Given the description of an element on the screen output the (x, y) to click on. 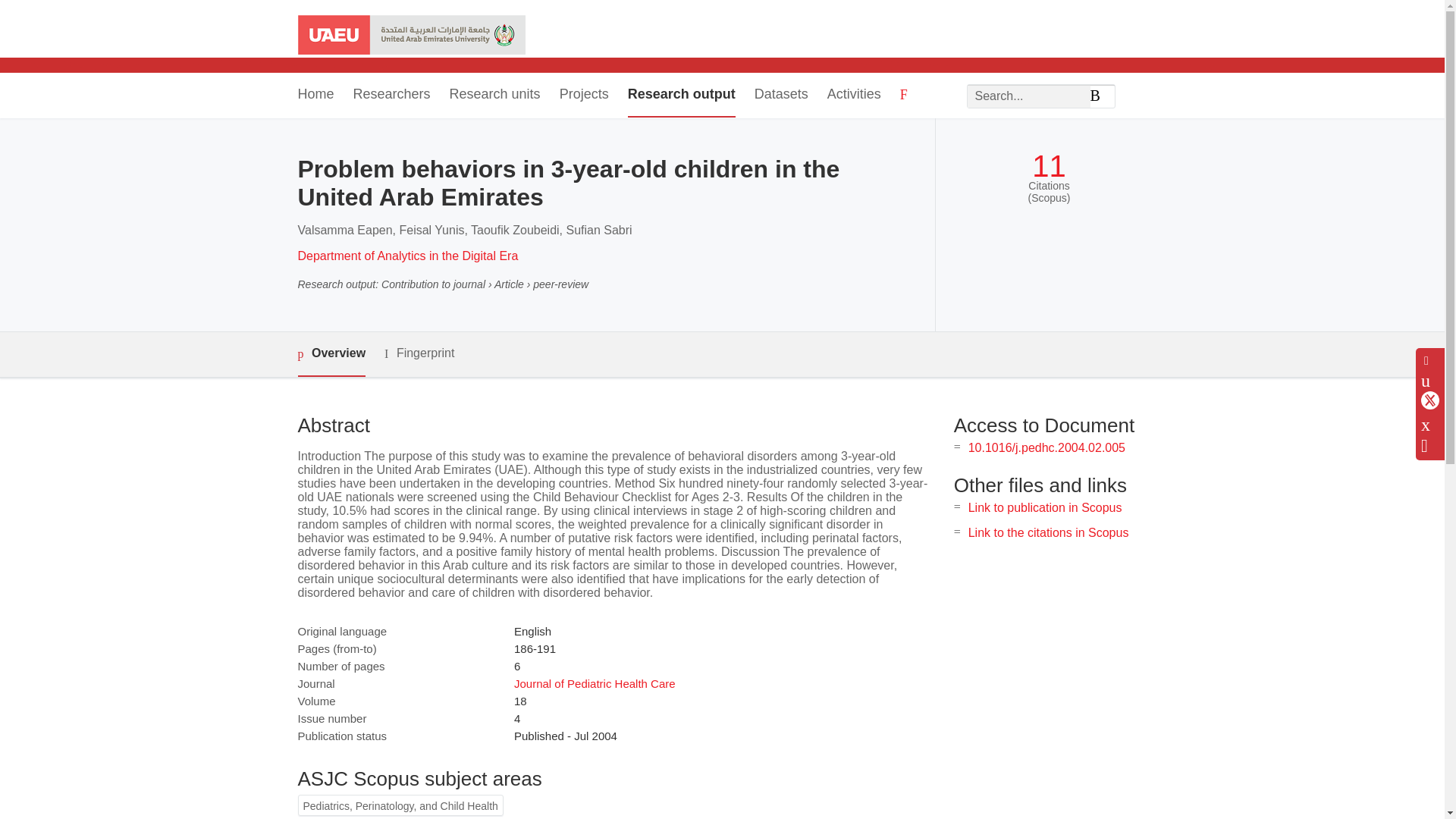
Link to publication in Scopus (1045, 507)
Projects (583, 94)
Fingerprint (419, 353)
Datasets (781, 94)
Activities (853, 94)
Research units (494, 94)
11 (1048, 166)
United Arab Emirates University Home (410, 36)
Researchers (391, 94)
